Given the description of an element on the screen output the (x, y) to click on. 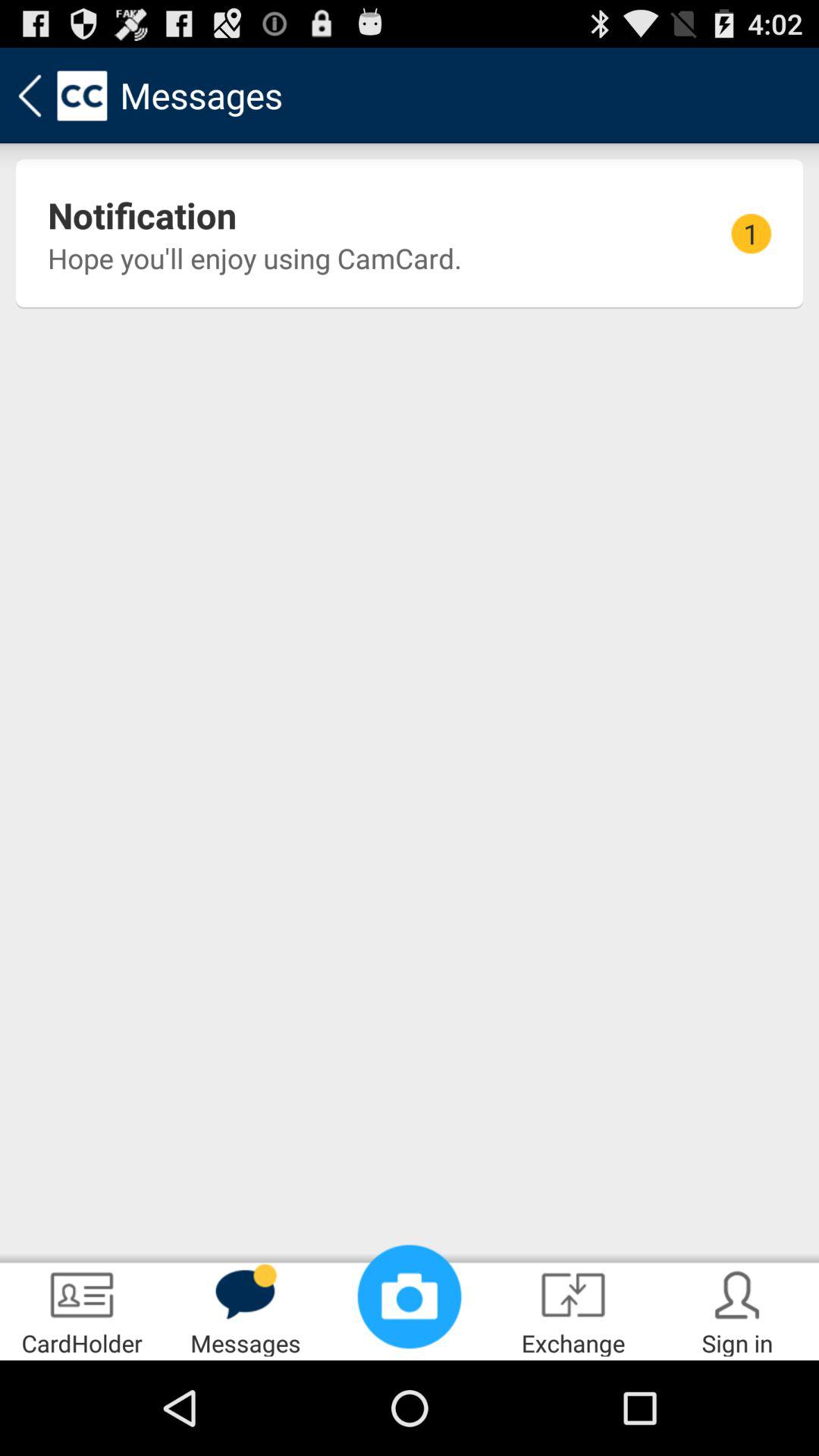
click the app to the right of the hope you ll (751, 233)
